Given the description of an element on the screen output the (x, y) to click on. 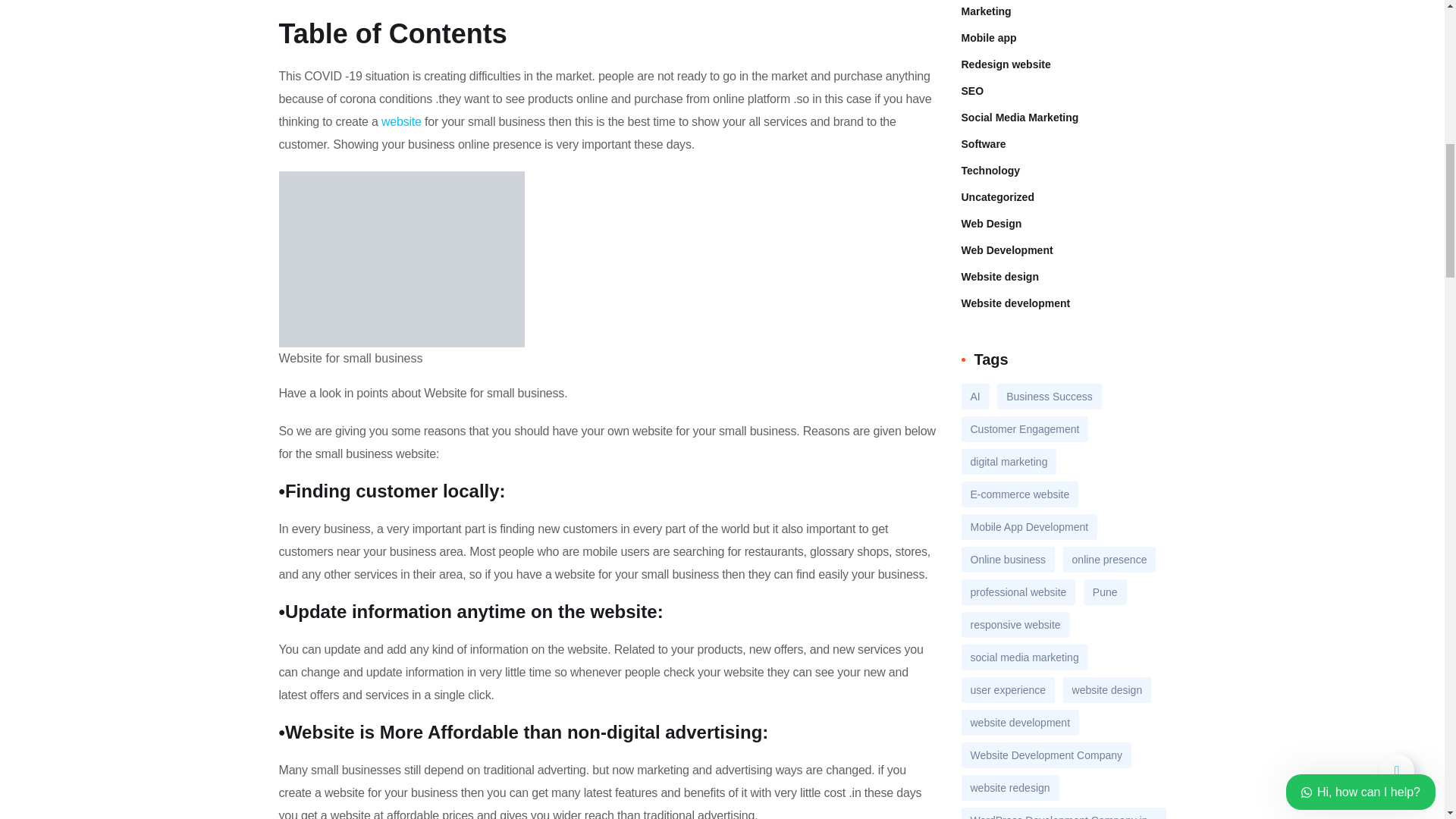
Why Do I Need a Website for My Small Business? 2 (401, 259)
